Given the description of an element on the screen output the (x, y) to click on. 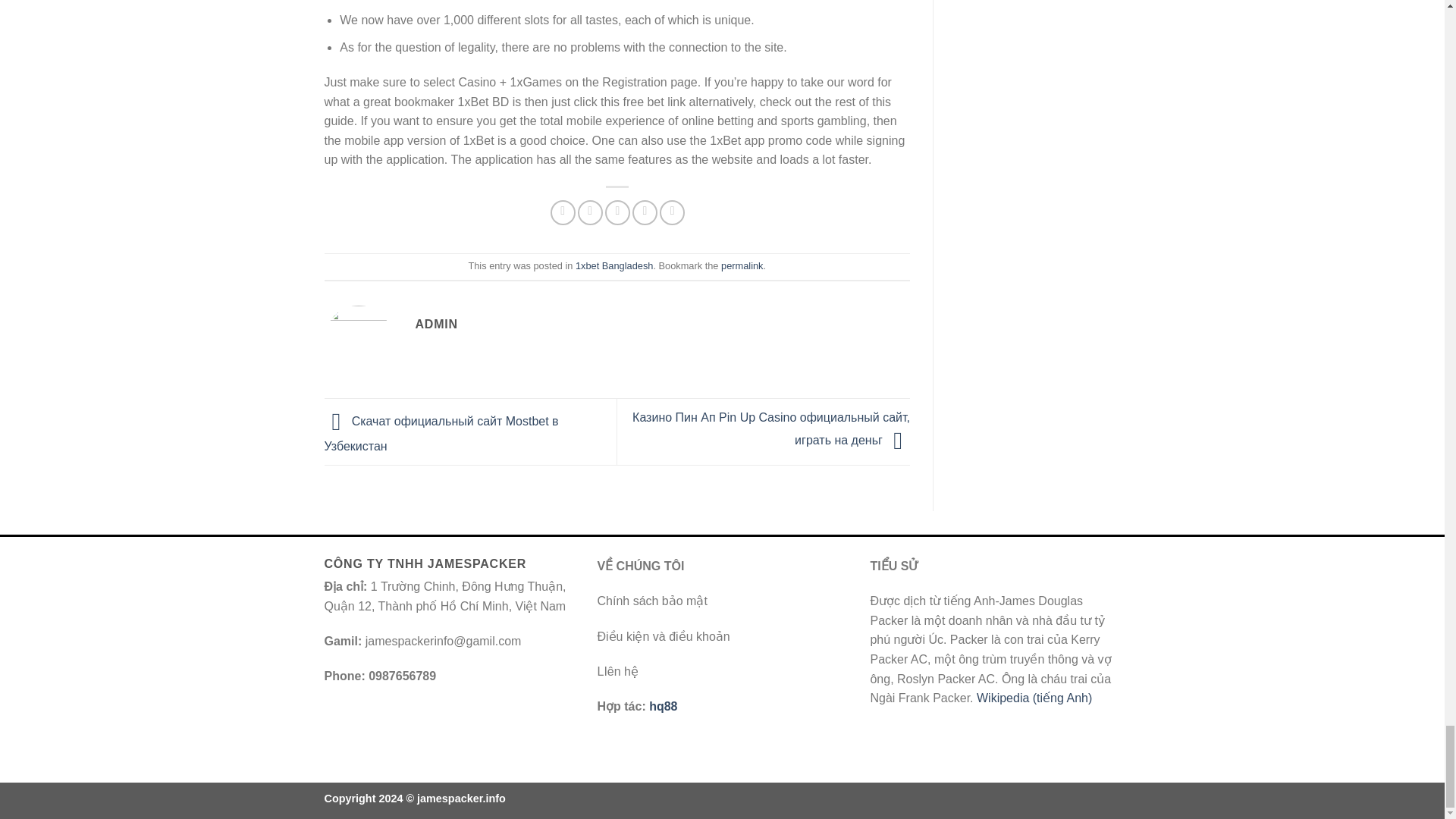
Email to a Friend (617, 212)
Pin on Pinterest (644, 212)
Share on LinkedIn (671, 212)
Share on Twitter (590, 212)
Share on Facebook (562, 212)
